Given the description of an element on the screen output the (x, y) to click on. 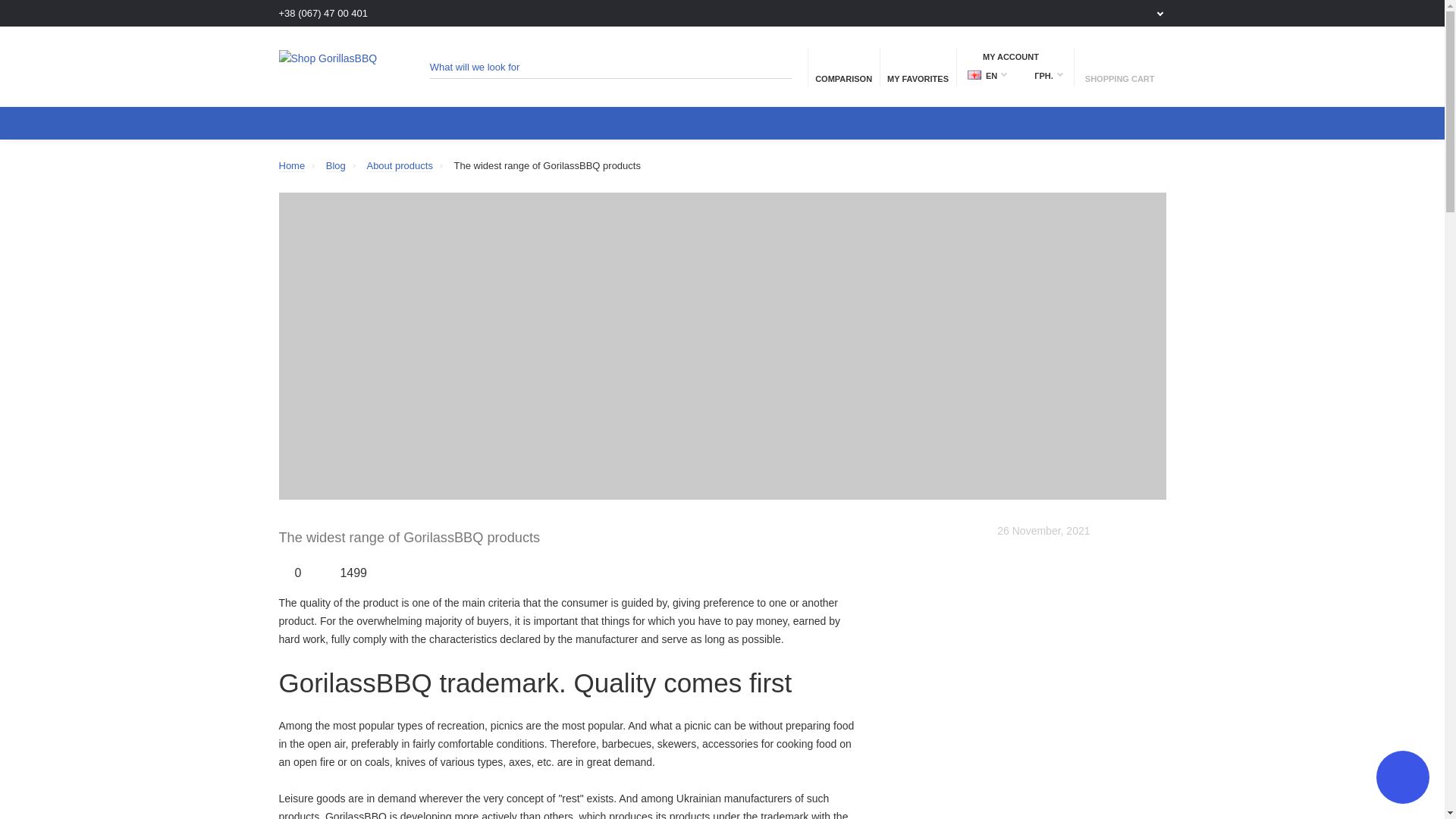
SHOPPING CART (1120, 67)
MY ACCOUNT (1015, 56)
EN  (974, 74)
EN (987, 75)
Shop GorillasBBQ (336, 66)
COMPARISON (843, 67)
MY FAVORITES (917, 67)
